Given the description of an element on the screen output the (x, y) to click on. 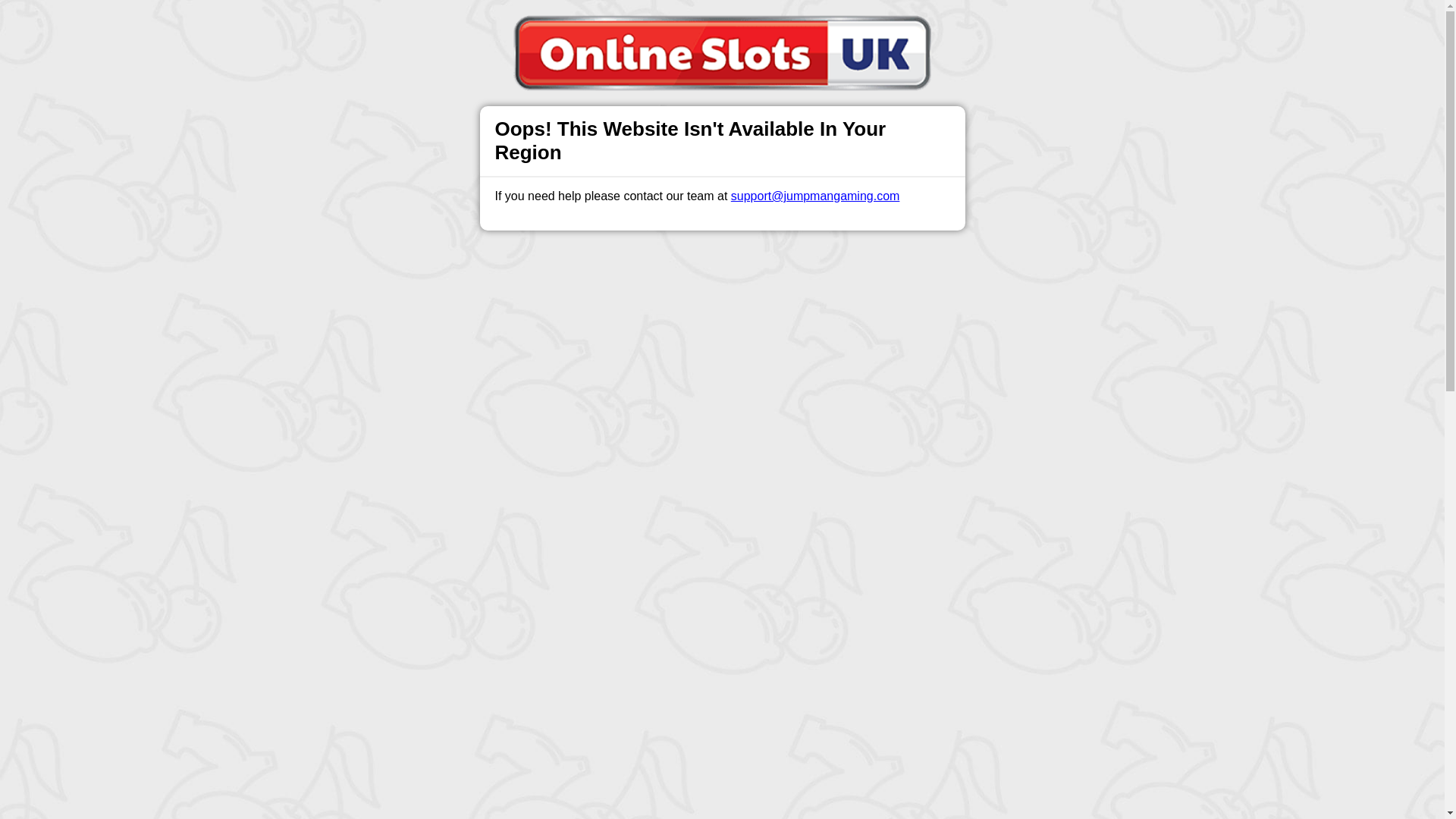
JOIN NOW (683, 321)
Trophies (515, 26)
Free Spins No Deposit (691, 347)
Chibeasties Mobile Slots (722, 259)
Join Now (1054, 26)
All Games (656, 26)
Login (963, 26)
PLAY NOW (759, 321)
Promotions (583, 26)
Join Now (787, 347)
